Given the description of an element on the screen output the (x, y) to click on. 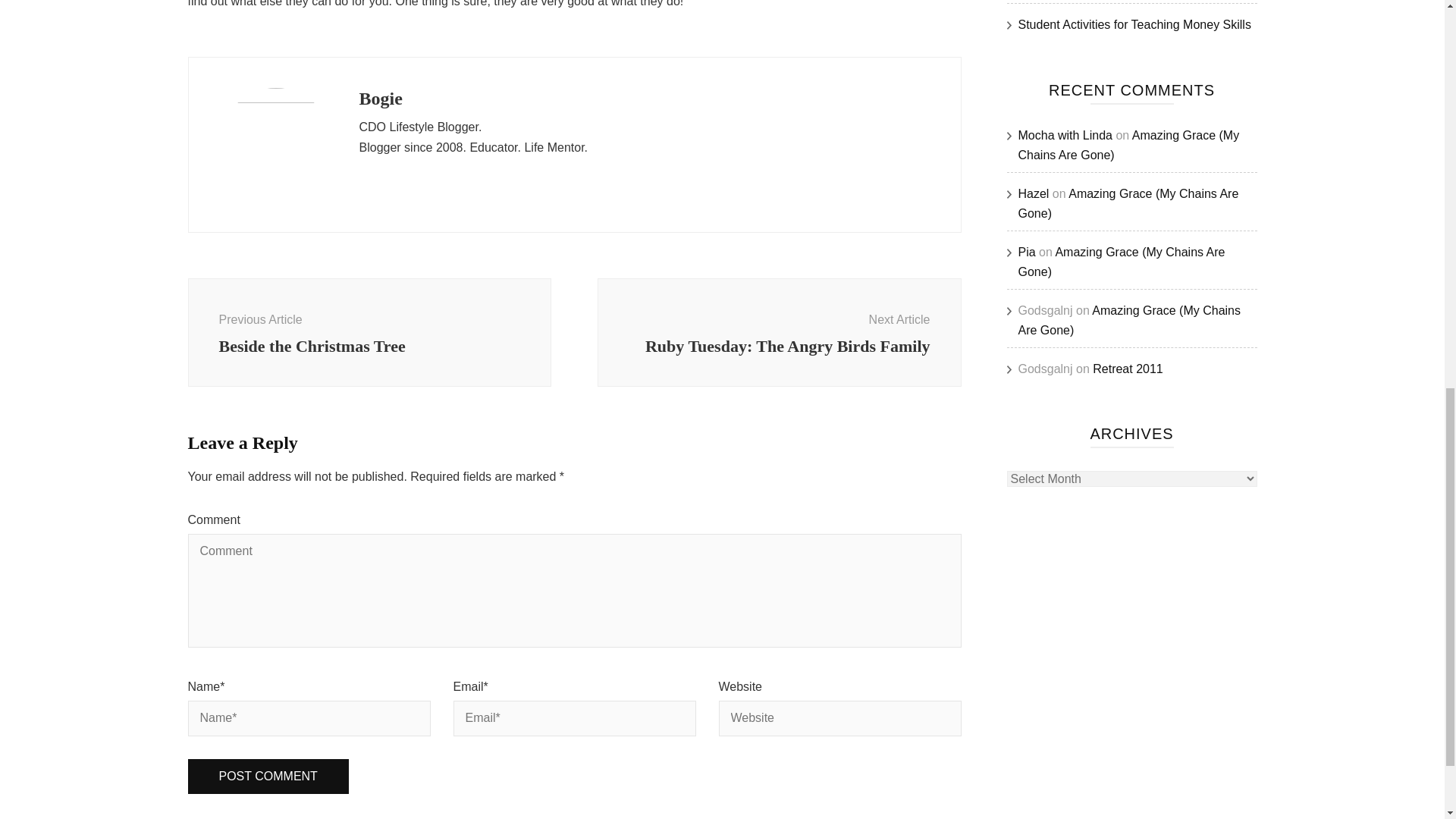
Pia (1026, 251)
Post Comment (268, 776)
Hazel (778, 332)
Post Comment (1032, 193)
Retreat 2011 (268, 776)
Student Activities for Teaching Money Skills  (369, 332)
Mocha with Linda (1128, 368)
